Given the description of an element on the screen output the (x, y) to click on. 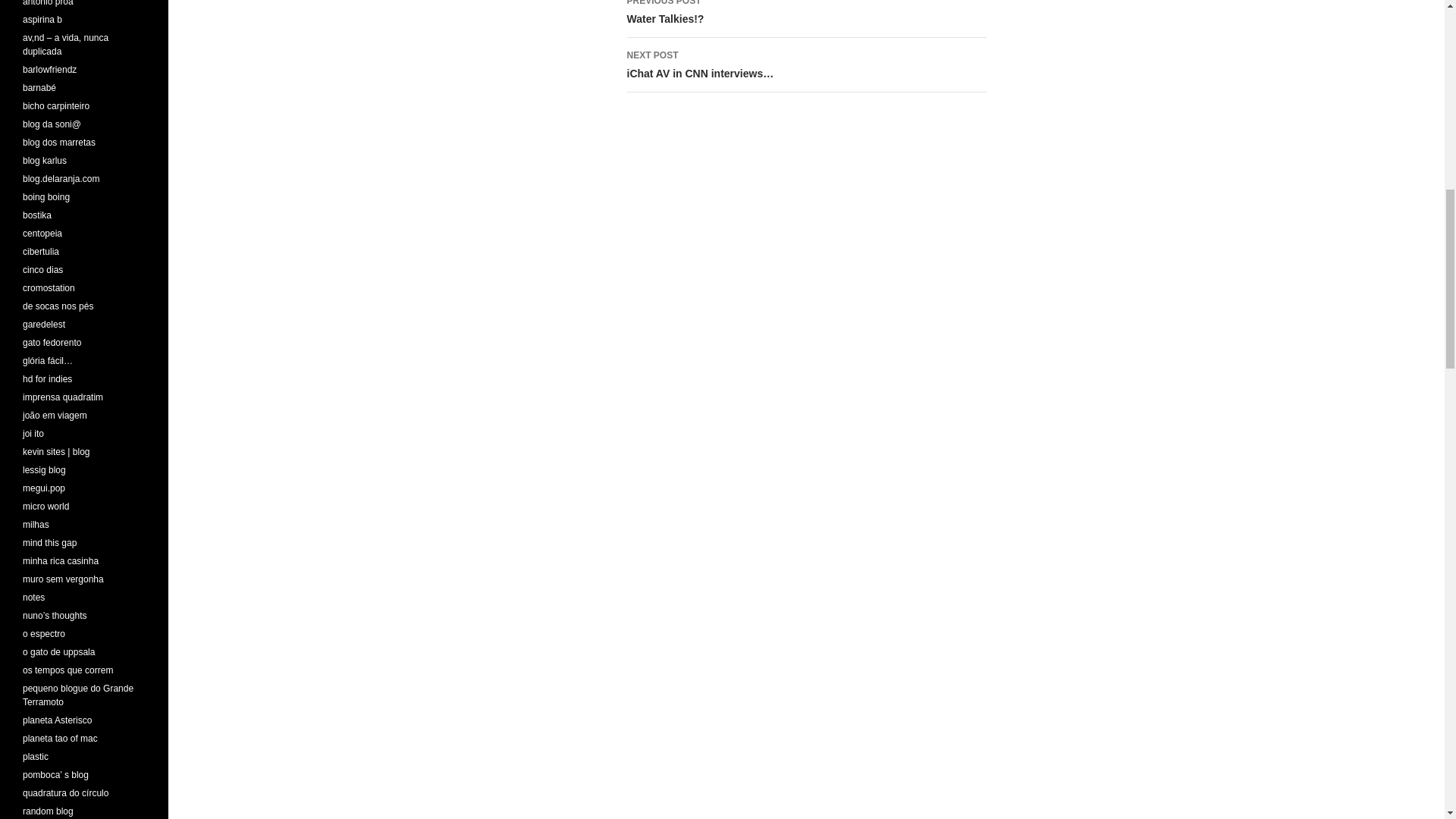
bicho carpinteiro (55, 105)
barlowfriendz (50, 69)
blog dos marretas (805, 18)
aspirina b (59, 142)
